Given the description of an element on the screen output the (x, y) to click on. 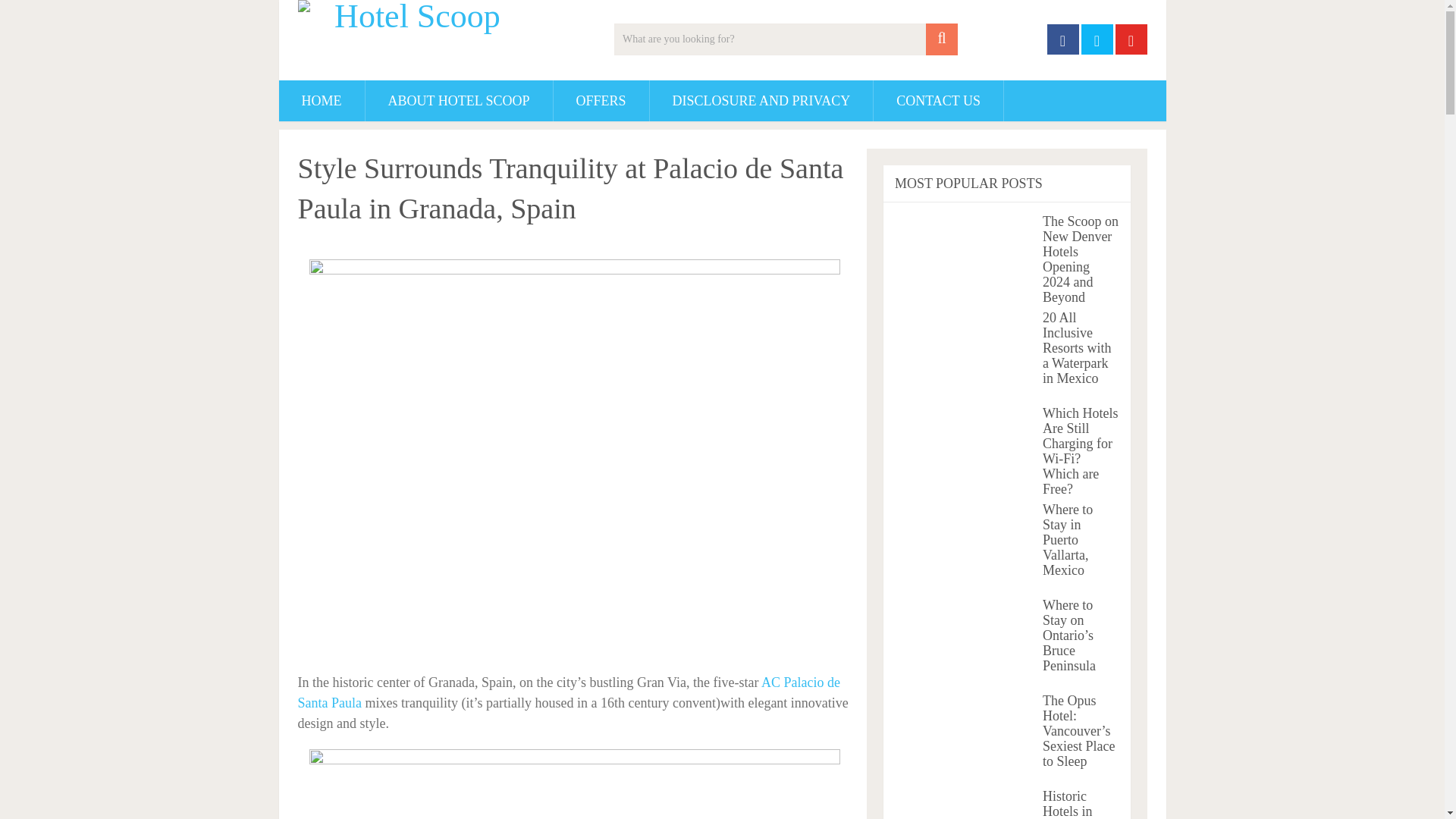
AC Palacio de Santa Paula (568, 692)
DISCLOSURE AND PRIVACY (761, 100)
ABOUT HOTEL SCOOP (459, 100)
HOME (322, 100)
Which Hotels Are Still Charging for Wi-Fi? Which are Free? (965, 449)
CONTACT US (938, 100)
The Scoop on New Denver Hotels Opening 2024 and Beyond (965, 257)
Where to Stay in Puerto Vallarta, Mexico (965, 545)
Where to Stay on Ontario's Bruce Peninsula (965, 640)
20 All Inclusive Resorts with a Waterpark in Mexico (965, 353)
OFFERS (601, 100)
